Given the description of an element on the screen output the (x, y) to click on. 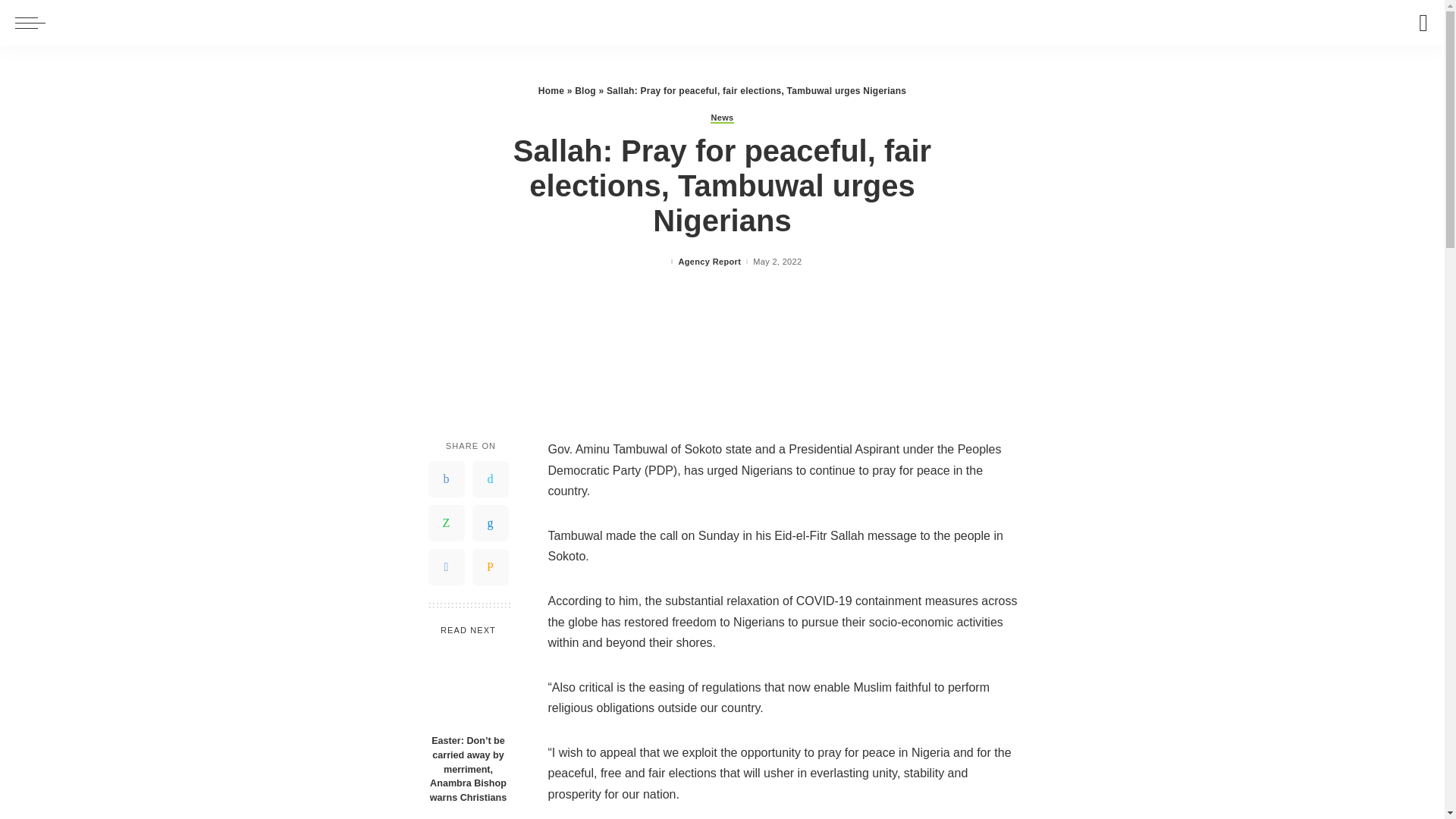
Blog (585, 90)
Twitter (489, 479)
Facebook (446, 479)
Agency Report (709, 261)
Email (489, 566)
News (721, 118)
Telegram (446, 566)
Search (1419, 22)
Home (551, 90)
WhatsApp (446, 523)
linkedIn (489, 523)
